Given the description of an element on the screen output the (x, y) to click on. 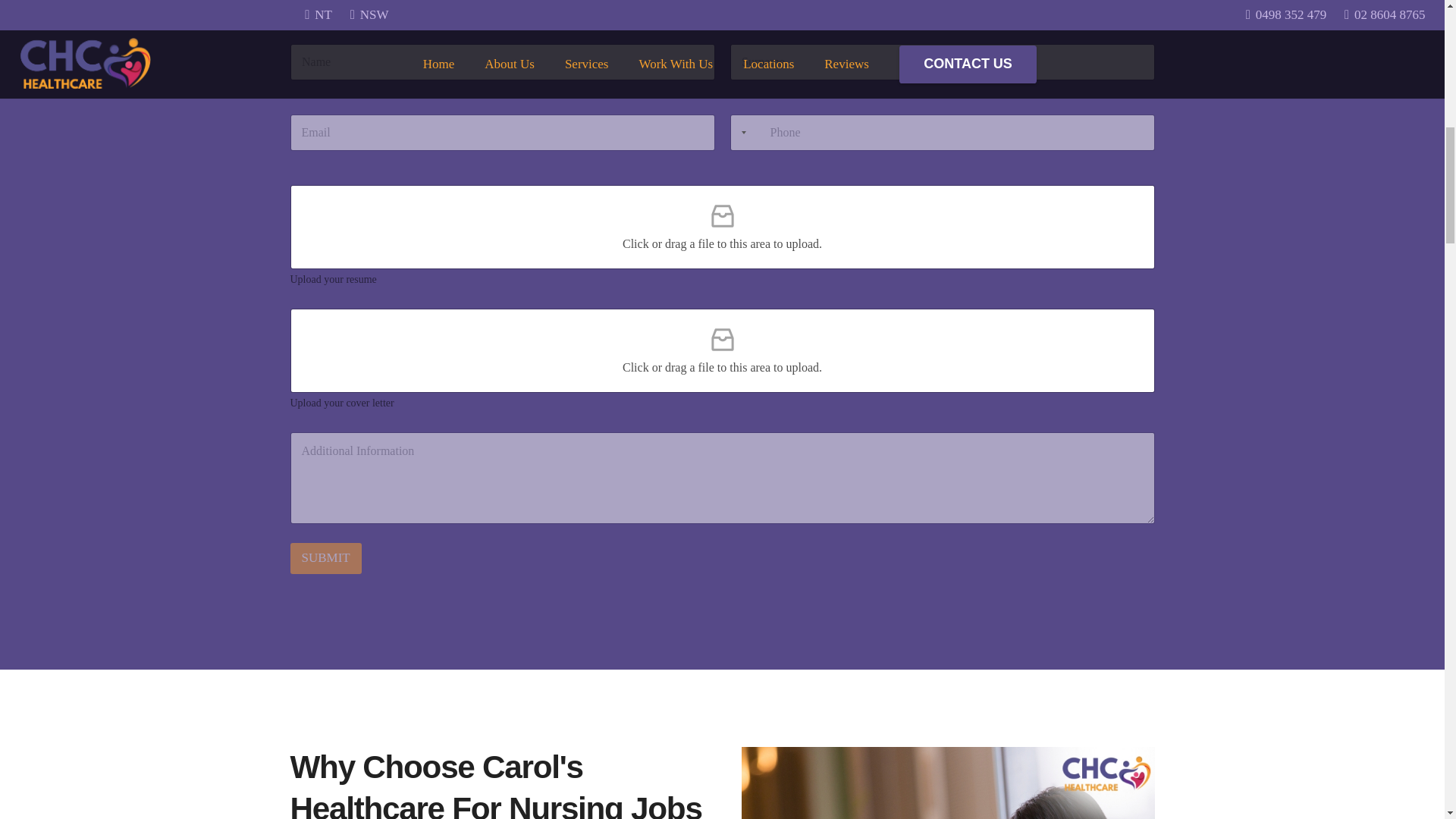
Back to top (1413, 26)
SUBMIT (325, 558)
